Given the description of an element on the screen output the (x, y) to click on. 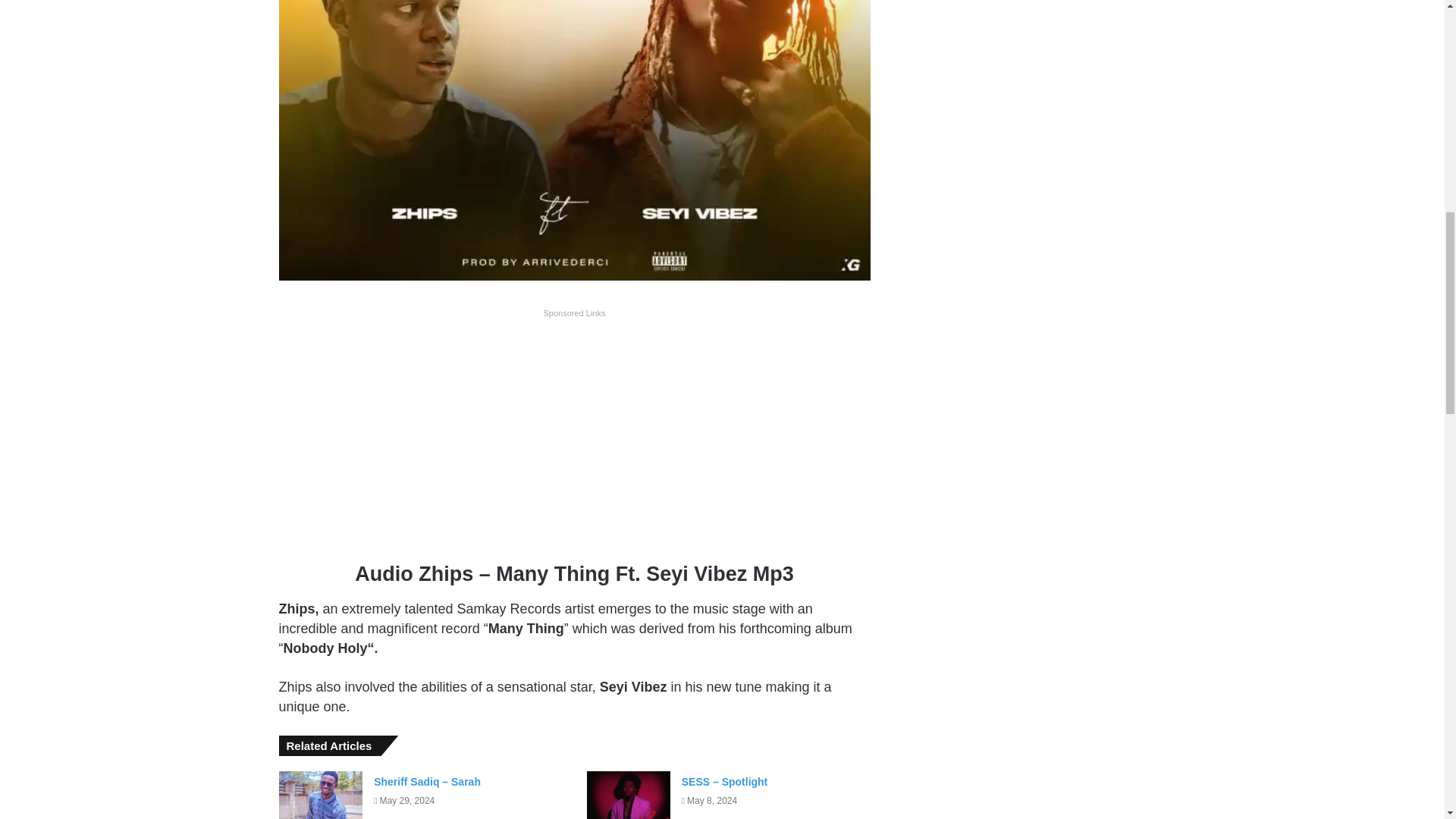
Sheriff Sadiq - Sarah (320, 795)
